Given the description of an element on the screen output the (x, y) to click on. 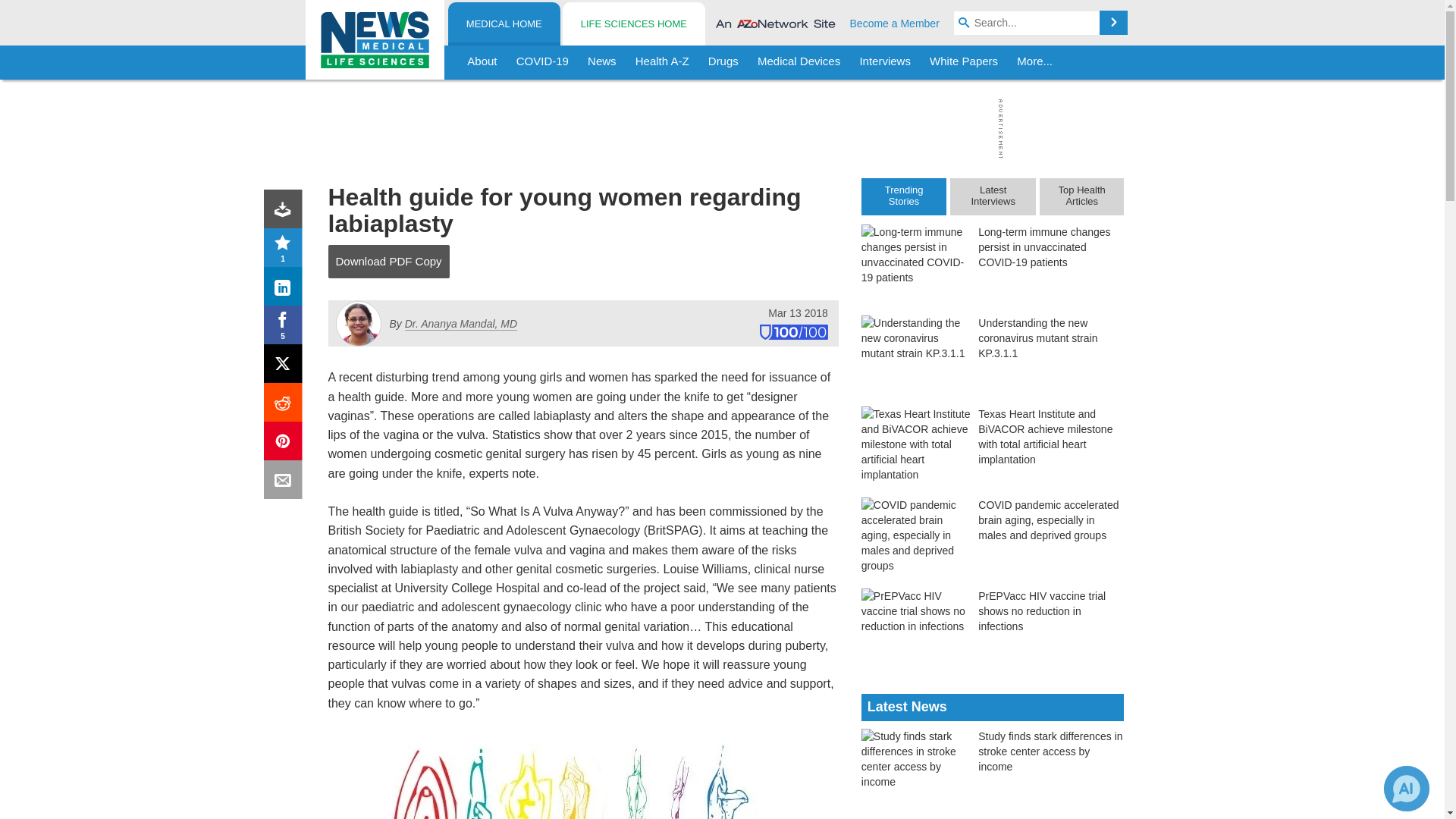
Reddit (285, 405)
Rating (285, 250)
Health A-Z (662, 62)
About (482, 62)
Medical Devices (798, 62)
More... (1035, 62)
Search (1112, 22)
MEDICAL HOME (504, 23)
News (601, 62)
Become a Member (894, 22)
Drugs (722, 62)
Interviews (884, 62)
X (285, 366)
Email (285, 483)
White Papers (963, 62)
